Given the description of an element on the screen output the (x, y) to click on. 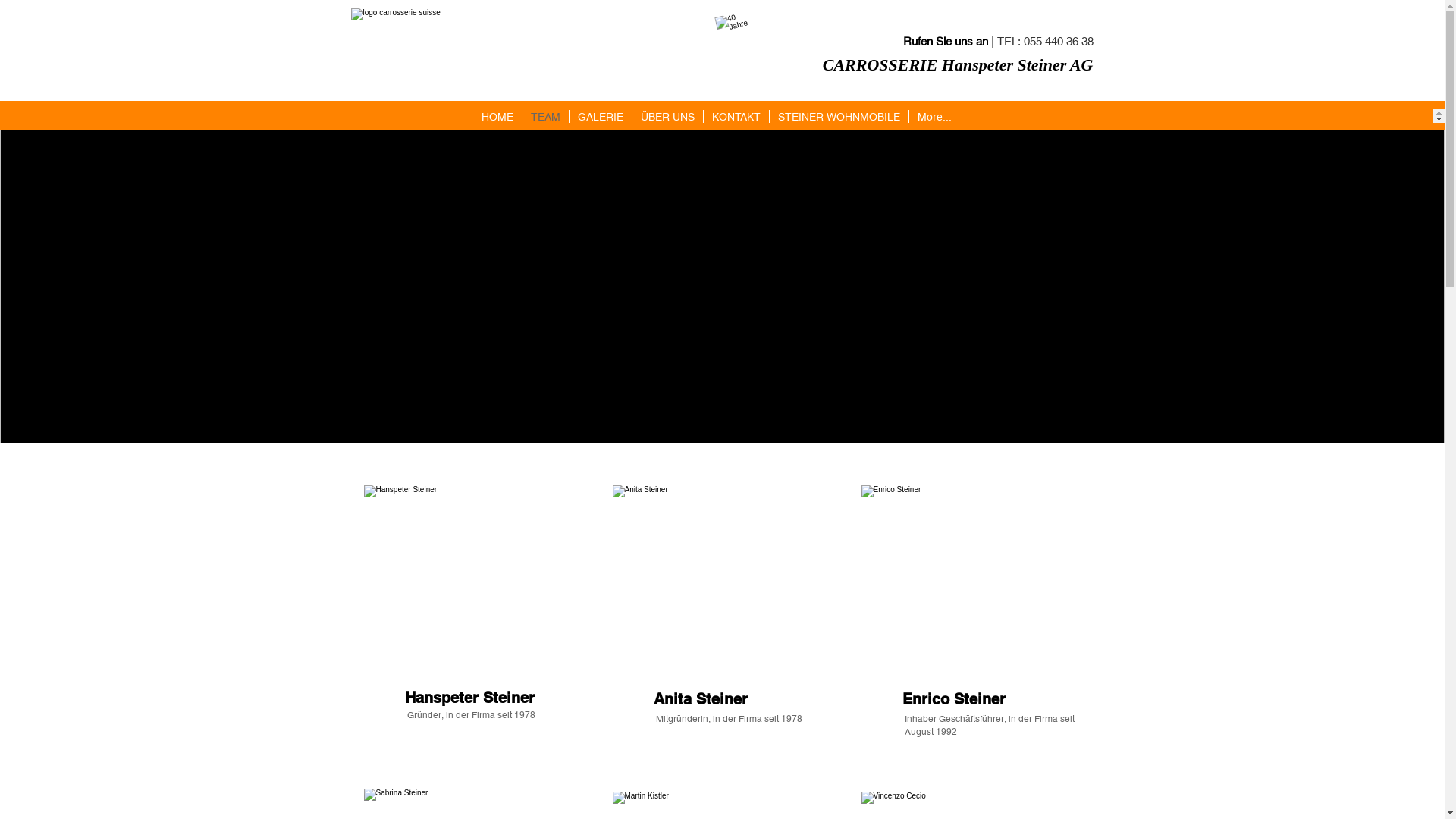
Hanspeter Steiner Element type: hover (472, 605)
HOME Element type: text (497, 115)
STEINER WOHNMOBILE Element type: text (838, 115)
TEAM Element type: text (544, 115)
Anita Steiner Element type: hover (721, 605)
GALERIE Element type: text (599, 115)
KONTAKT Element type: text (735, 115)
Enrico Steiner Element type: hover (970, 605)
logo carrosserie suisse Element type: hover (509, 41)
